Given the description of an element on the screen output the (x, y) to click on. 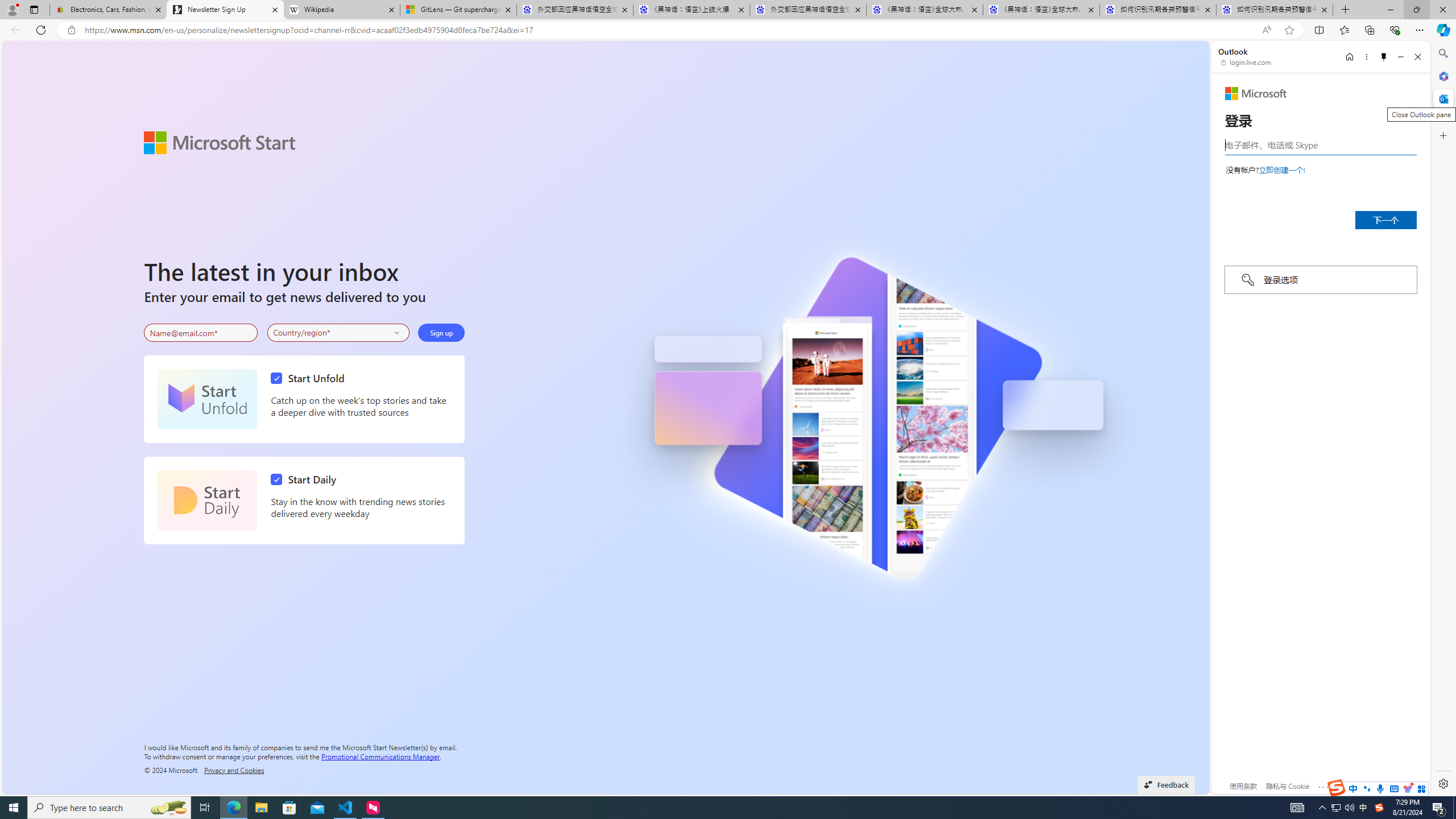
Newsletter Sign Up (224, 9)
Promotional Communications Manager (380, 755)
